Given the description of an element on the screen output the (x, y) to click on. 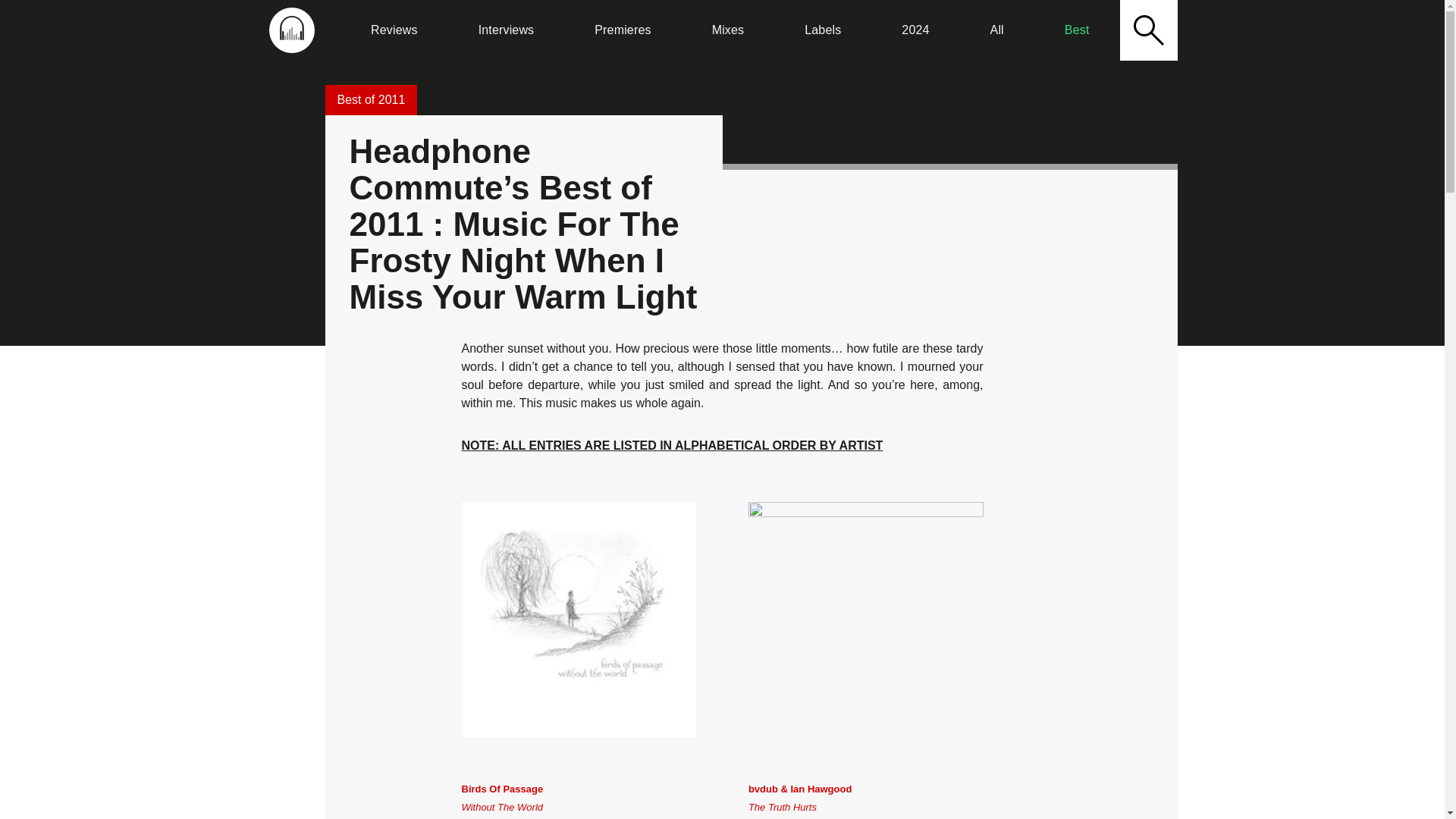
Mixes (728, 30)
Headphone Commute (502, 800)
Reviews (290, 30)
Interviews (394, 30)
2024 (505, 30)
Best (914, 30)
All (1077, 30)
Premieres (997, 30)
Labels (622, 30)
Best of 2011 (822, 30)
